Given the description of an element on the screen output the (x, y) to click on. 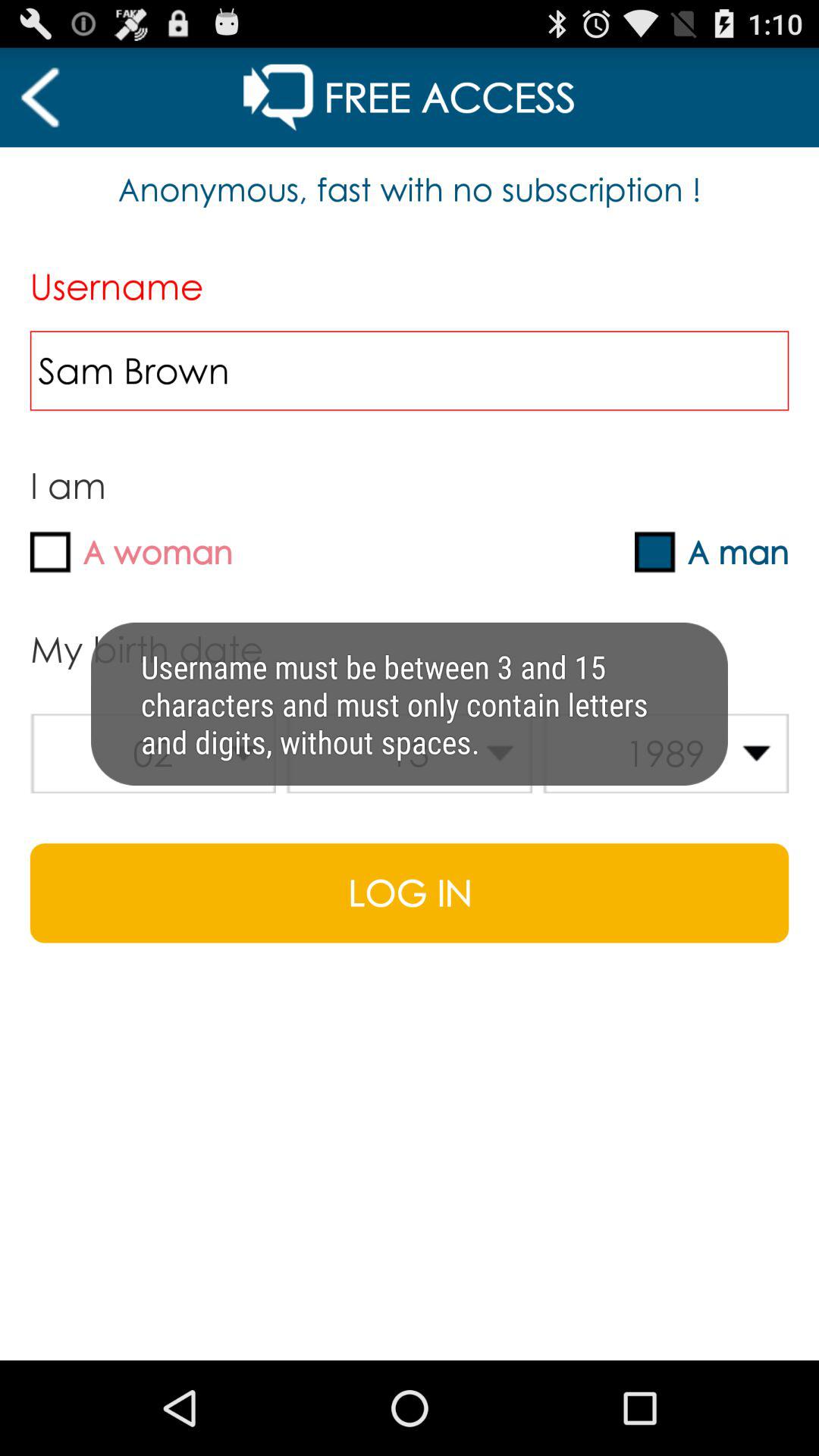
tickmark box (655, 552)
